Given the description of an element on the screen output the (x, y) to click on. 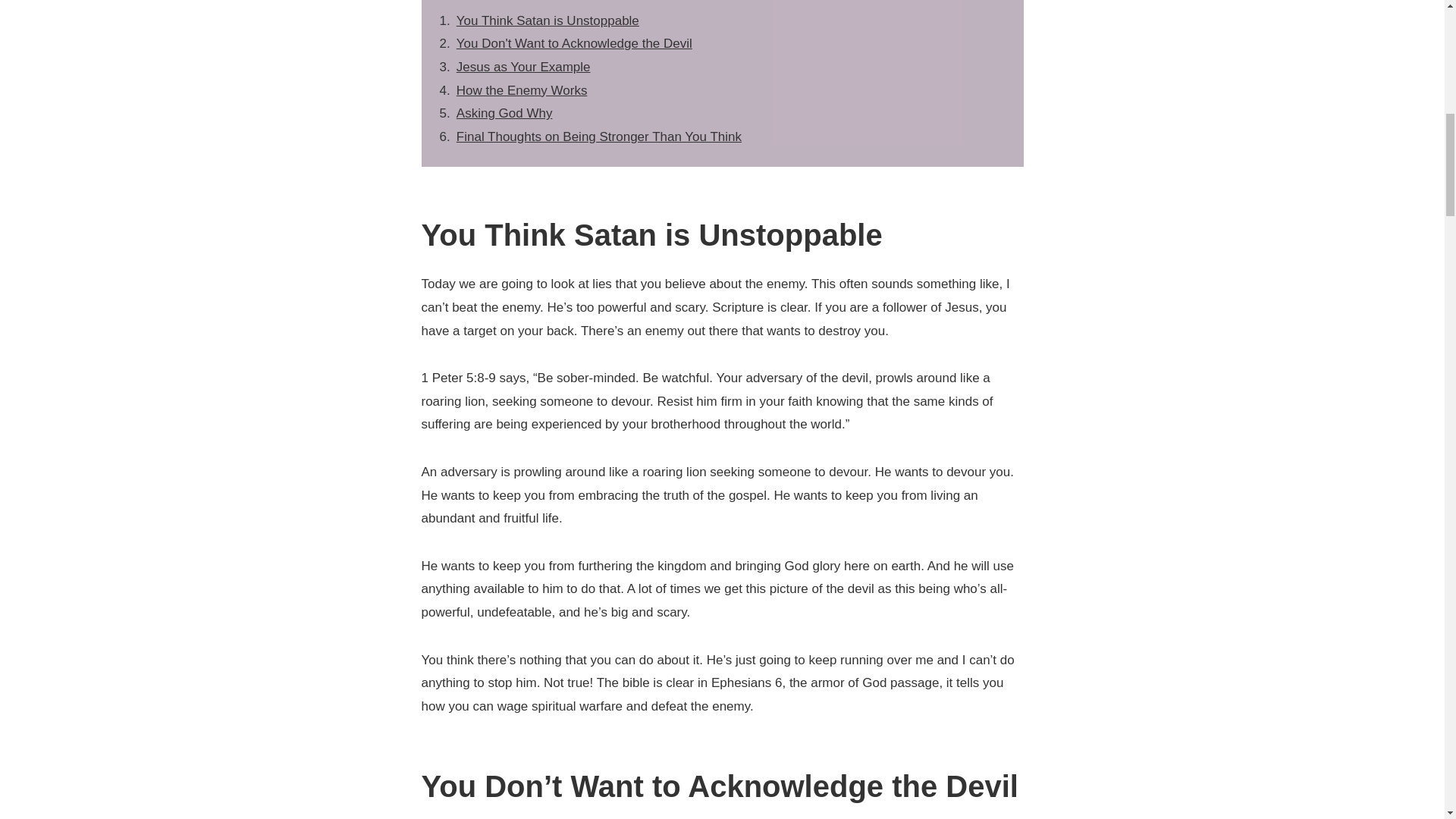
You Think Satan is Unstoppable (548, 20)
You Don't Want to Acknowledge the Devil (575, 43)
Asking God Why (505, 113)
Final Thoughts on Being Stronger Than You Think (599, 136)
Jesus as Your Example (524, 66)
How the Enemy Works (522, 90)
